Given the description of an element on the screen output the (x, y) to click on. 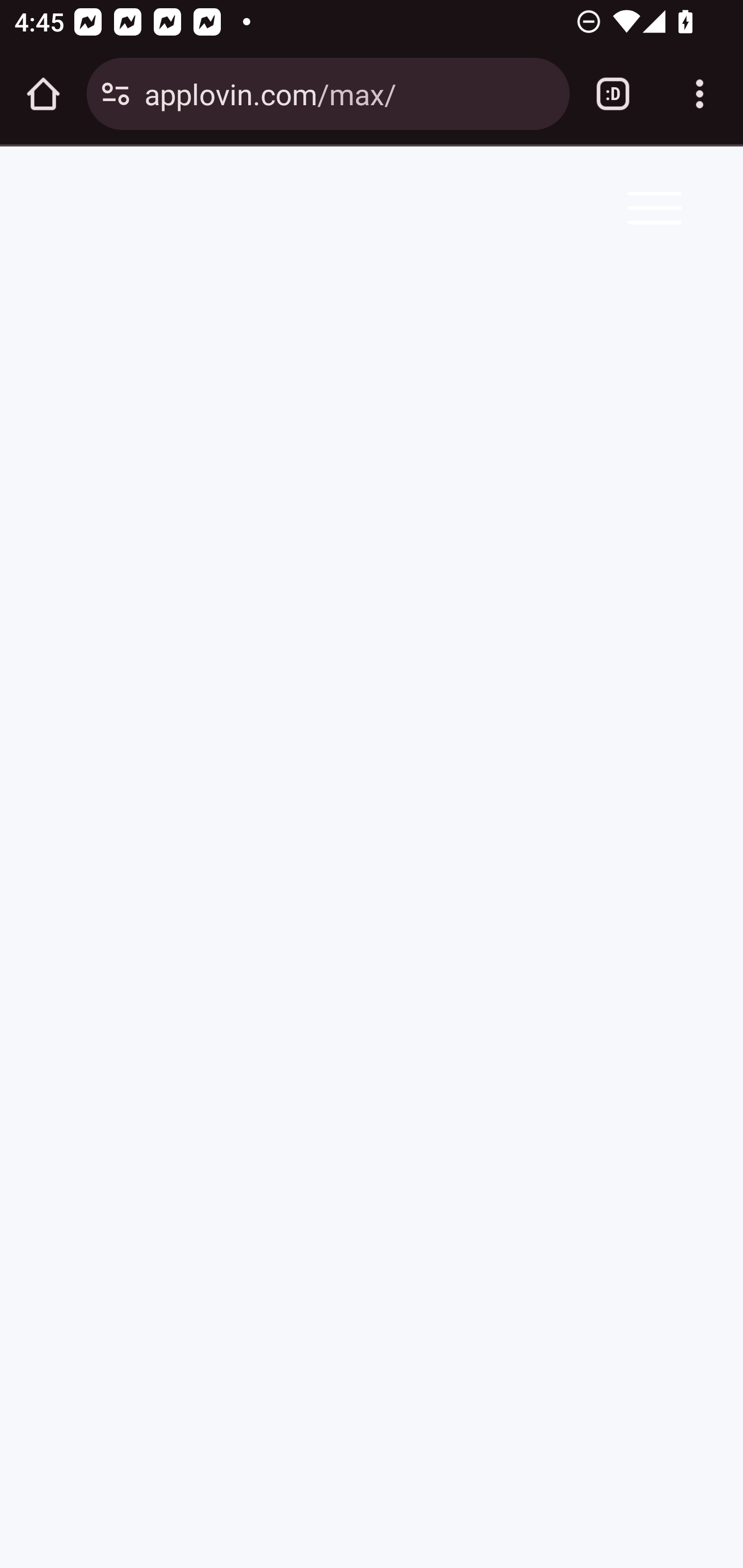
Open the home page (43, 93)
Connection is secure (115, 93)
Switch or close tabs (612, 93)
Customize and control Google Chrome (699, 93)
applovin.com/max/ (349, 92)
Menu Trigger (650, 207)
